Given the description of an element on the screen output the (x, y) to click on. 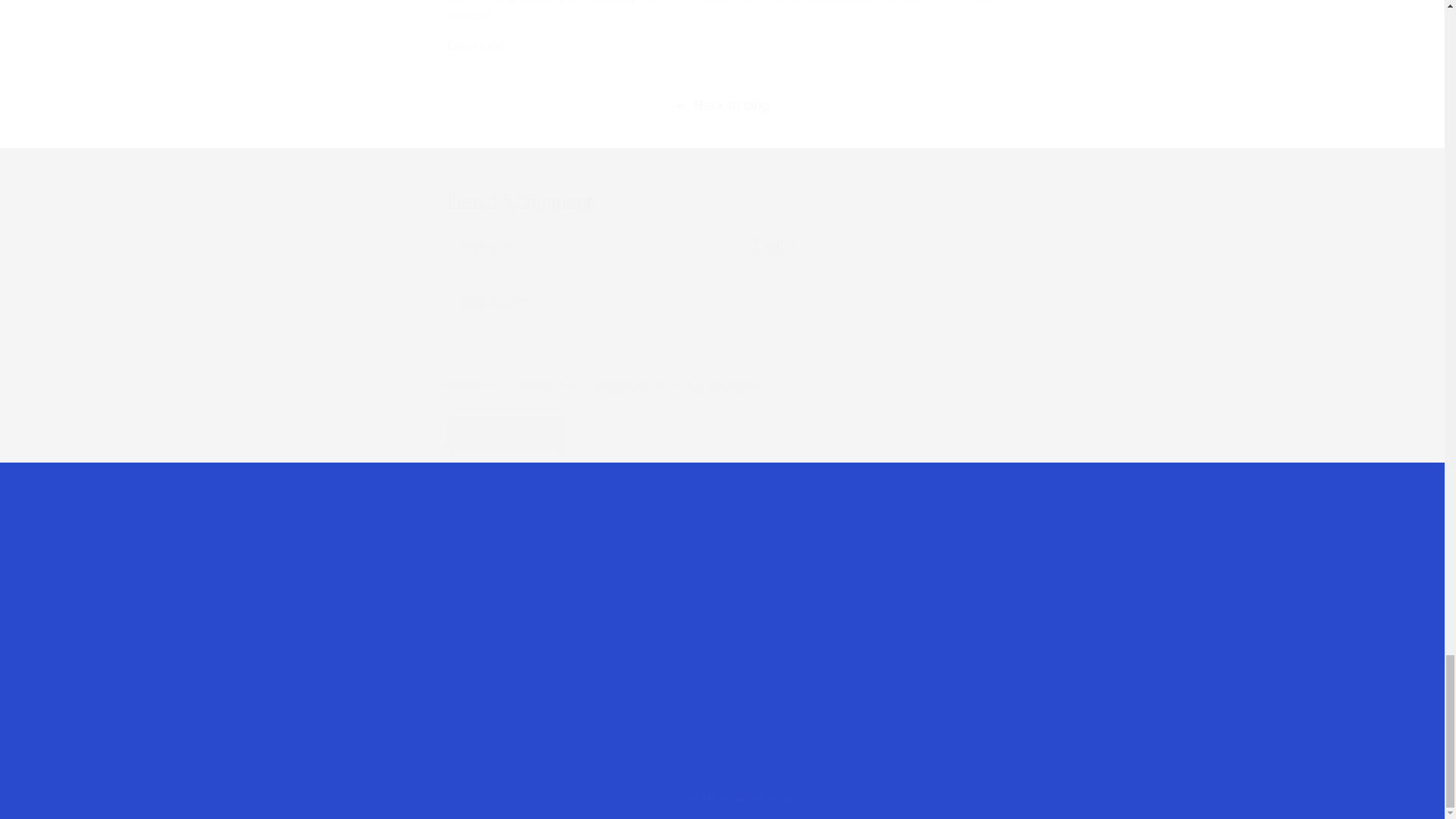
SHOP (575, 565)
Post comment (506, 432)
ABOUT US (588, 590)
Post comment (1051, 615)
HOW IT WORKS (506, 432)
